Given the description of an element on the screen output the (x, y) to click on. 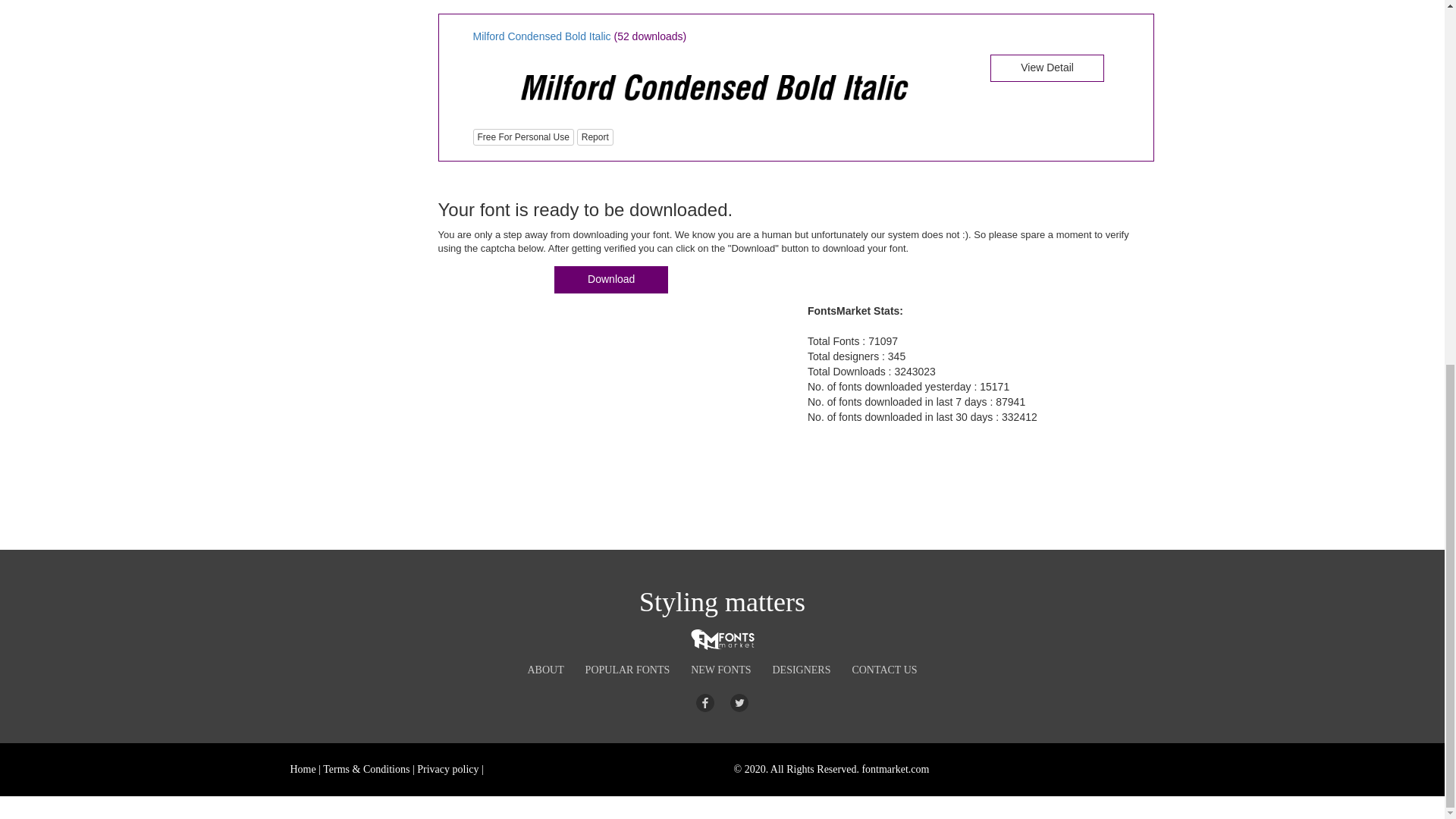
Free For Personal Use (523, 136)
Something wrong? Let us know (594, 136)
Milford Condensed Bold Italic (712, 86)
Advertisement (349, 302)
